Given the description of an element on the screen output the (x, y) to click on. 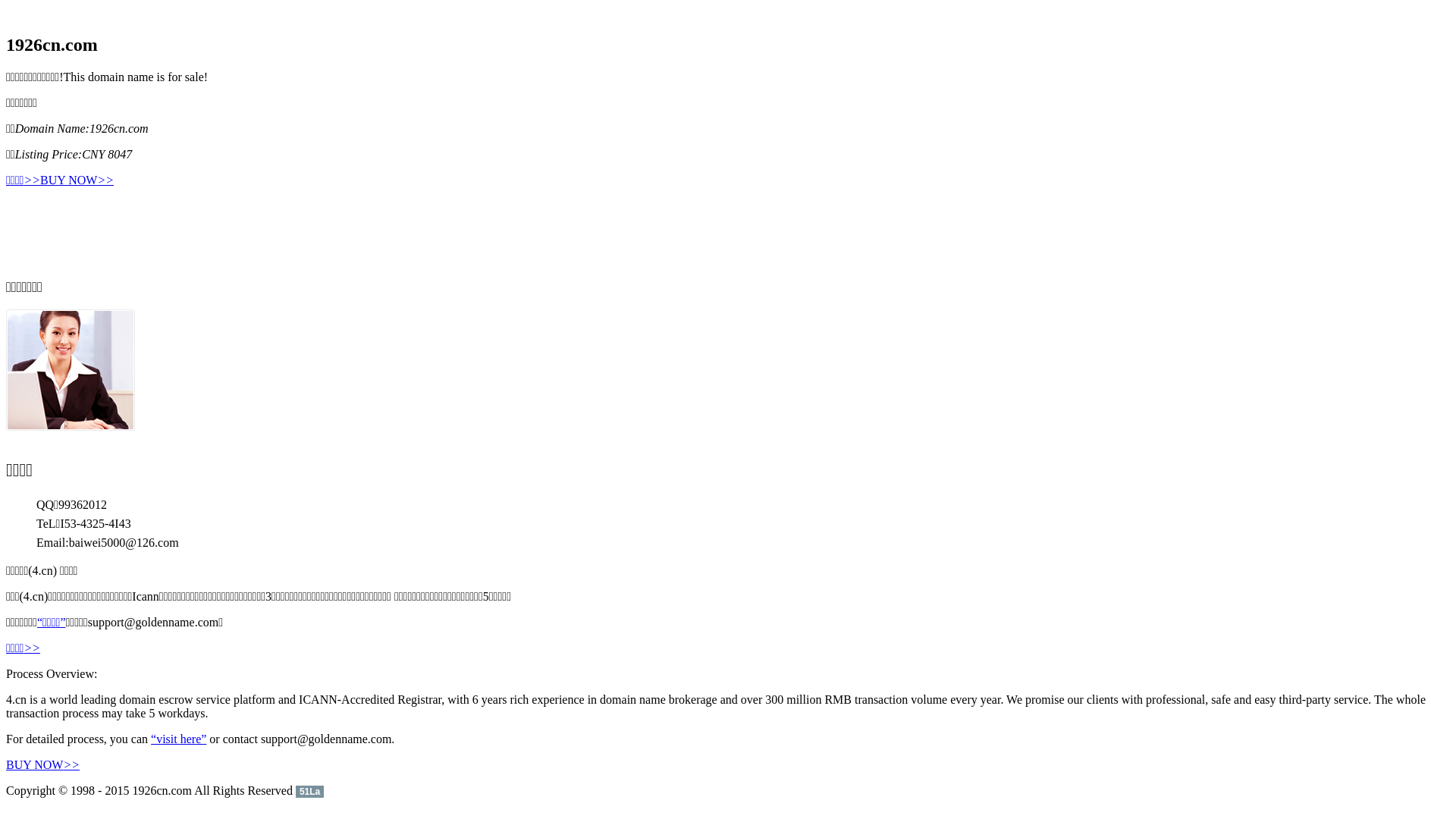
51La Element type: text (309, 790)
BUY NOW>> Element type: text (76, 180)
BUY NOW>> Element type: text (42, 764)
